Given the description of an element on the screen output the (x, y) to click on. 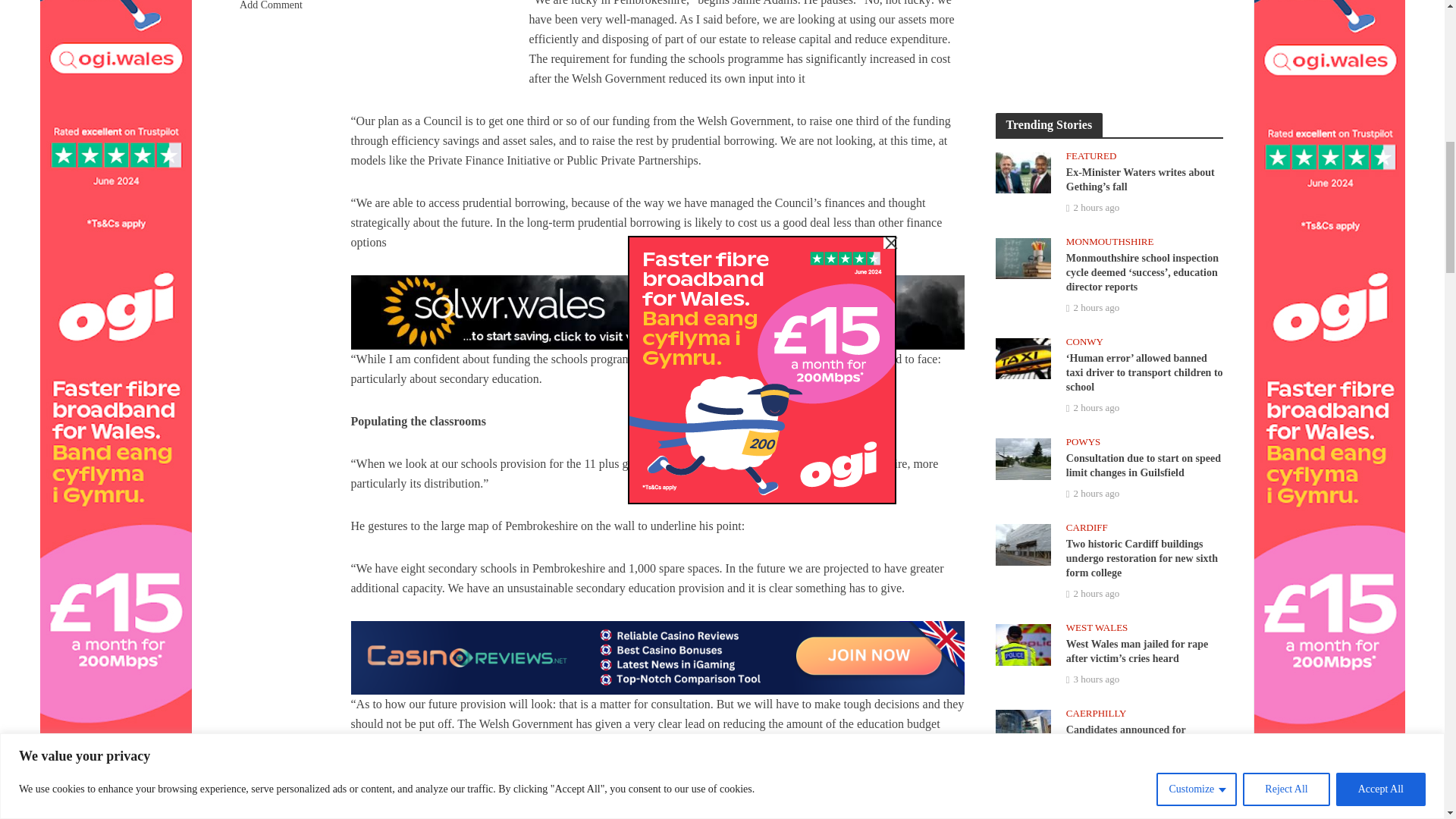
Advertisement (1108, 41)
